Given the description of an element on the screen output the (x, y) to click on. 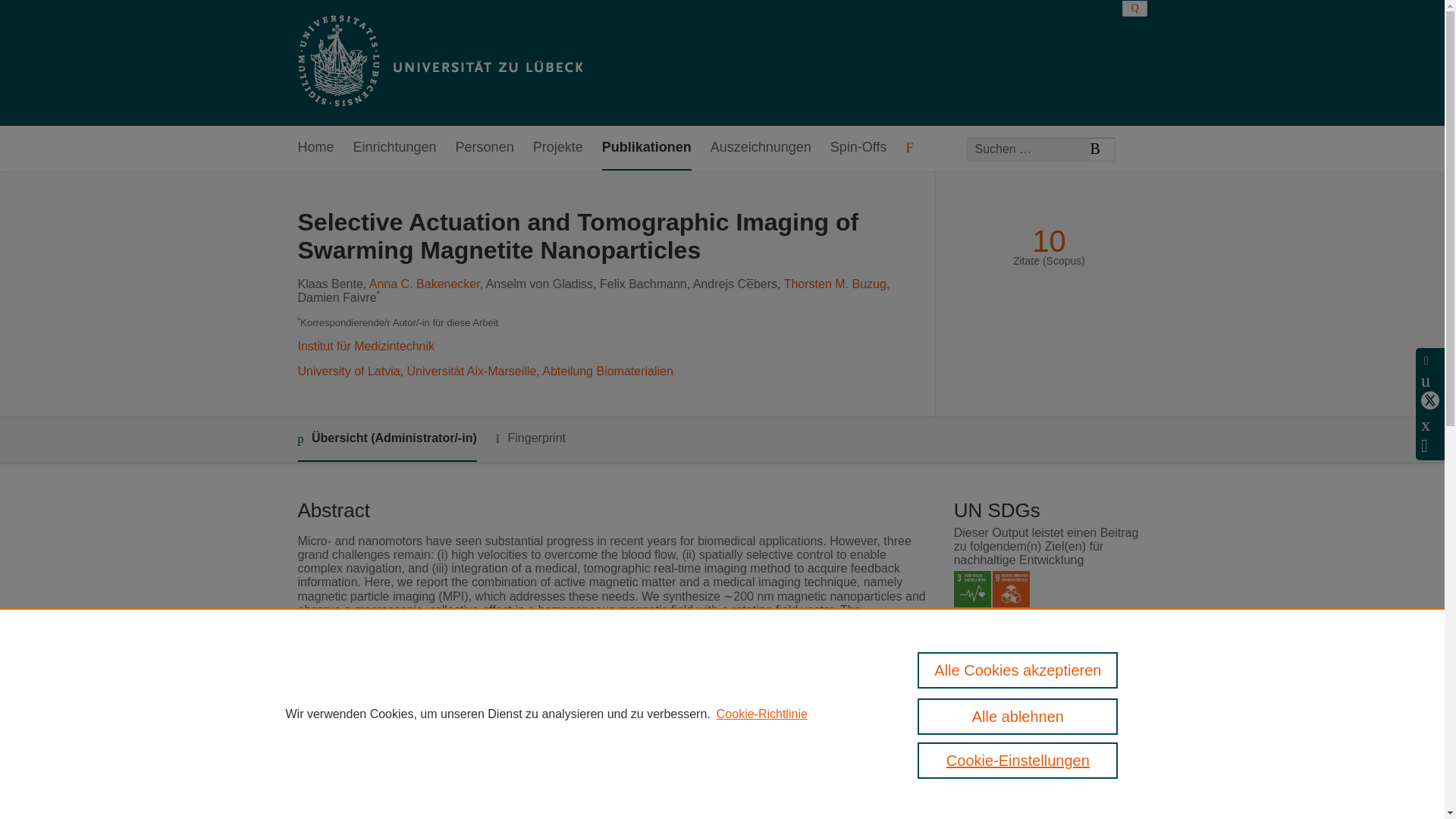
ACS Applied Nano Materials (585, 734)
Link to publication in Scopus (1045, 737)
Fingerprint (531, 438)
Projekte (557, 148)
Anna C. Bakenecker (424, 283)
Personen (484, 148)
University of Latvia (347, 370)
Einrichtungen (394, 148)
Publikationen (646, 148)
